Given the description of an element on the screen output the (x, y) to click on. 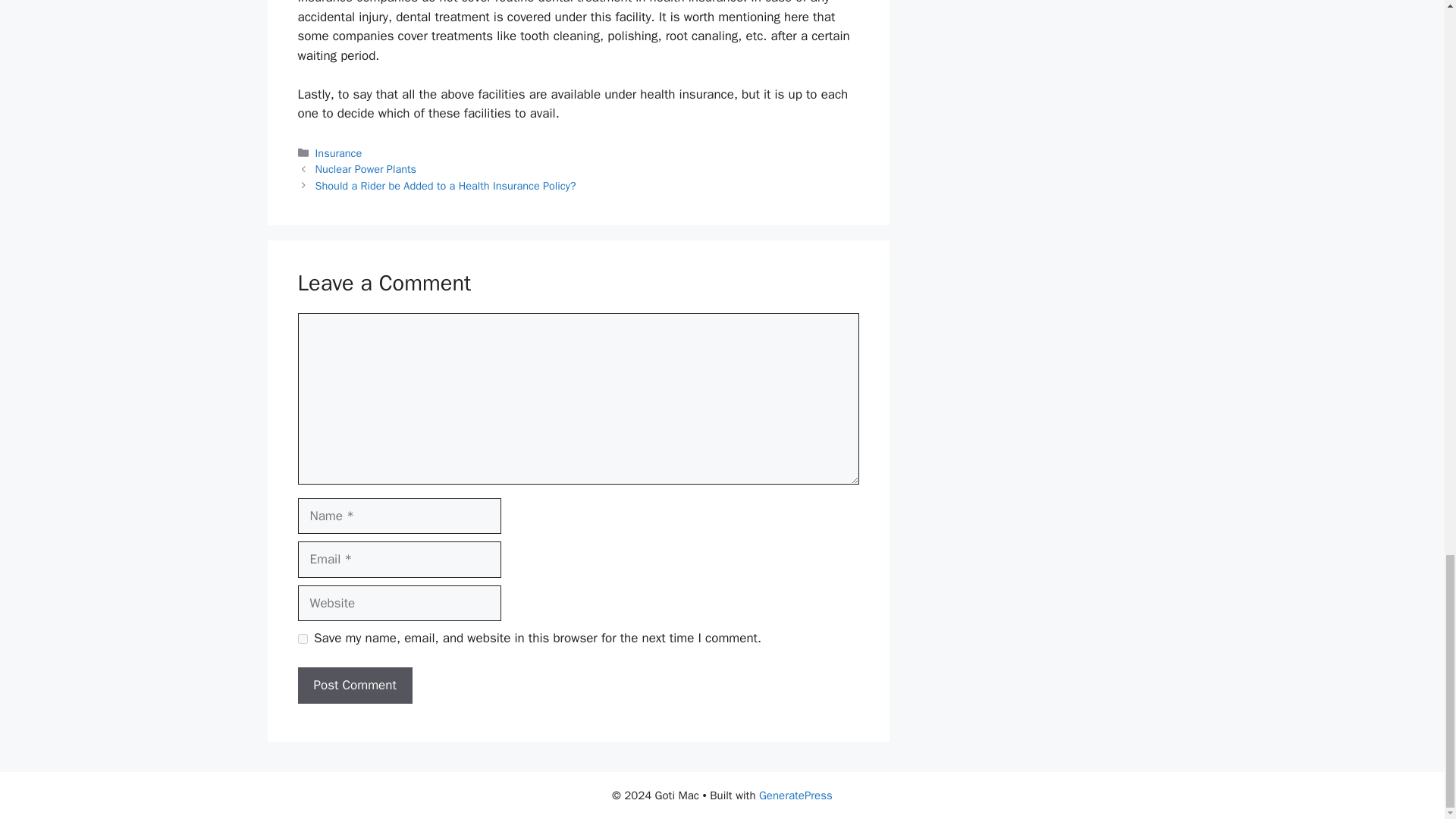
Post Comment (354, 685)
yes (302, 638)
Insurance (338, 152)
Nuclear Power Plants (365, 169)
Post Comment (354, 685)
Should a Rider be Added to a Health Insurance Policy? (445, 185)
